Given the description of an element on the screen output the (x, y) to click on. 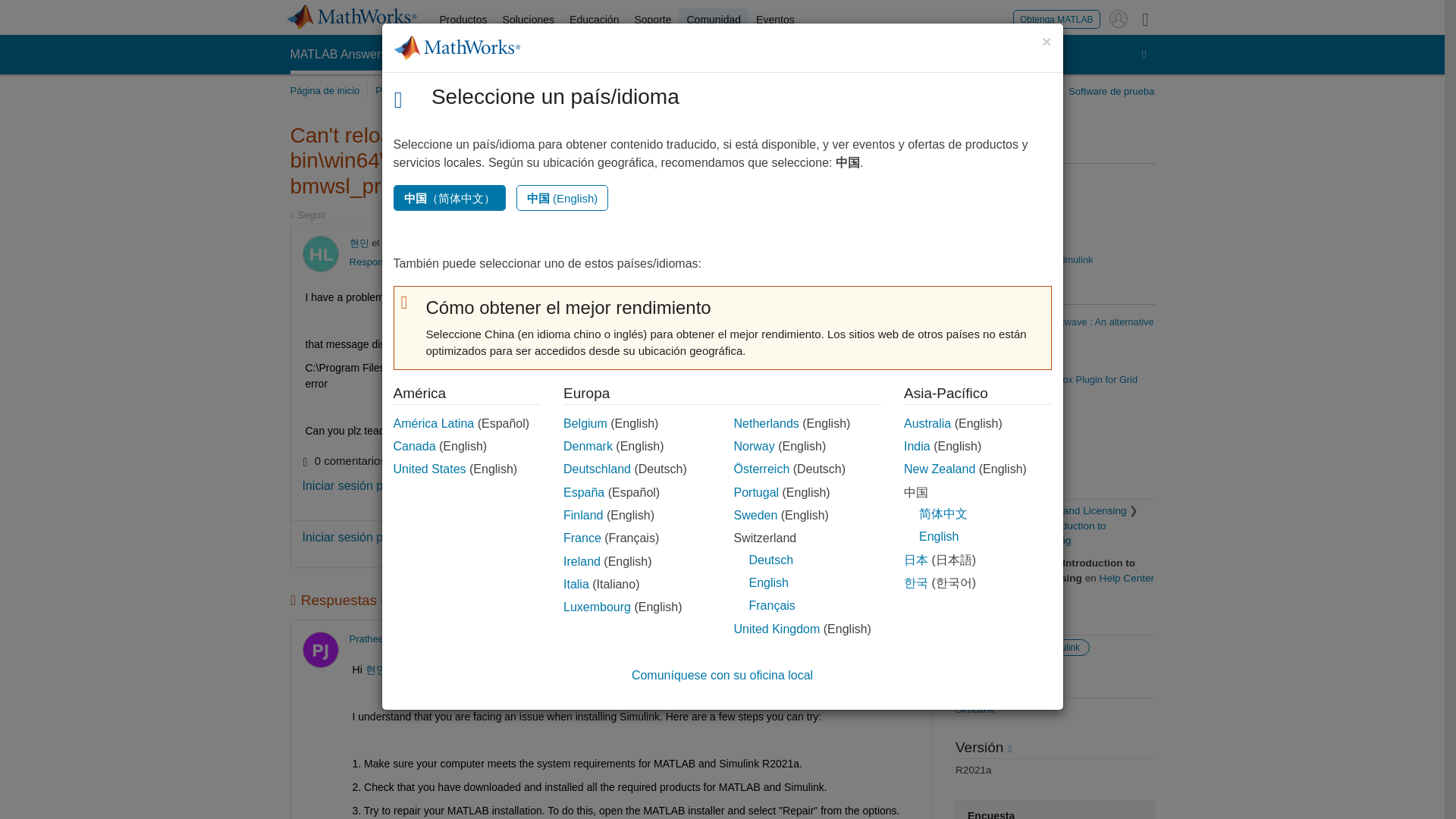
Enlace directo a esta pregunta (828, 242)
Enlace directo a esta respuesta (828, 638)
Comunidad (713, 19)
Productos (463, 19)
Eventos (775, 19)
Soporte (652, 19)
Obtenga MATLAB (1056, 18)
Soluciones (528, 19)
Simulink Error in 2012b  (1006, 179)
